Given the description of an element on the screen output the (x, y) to click on. 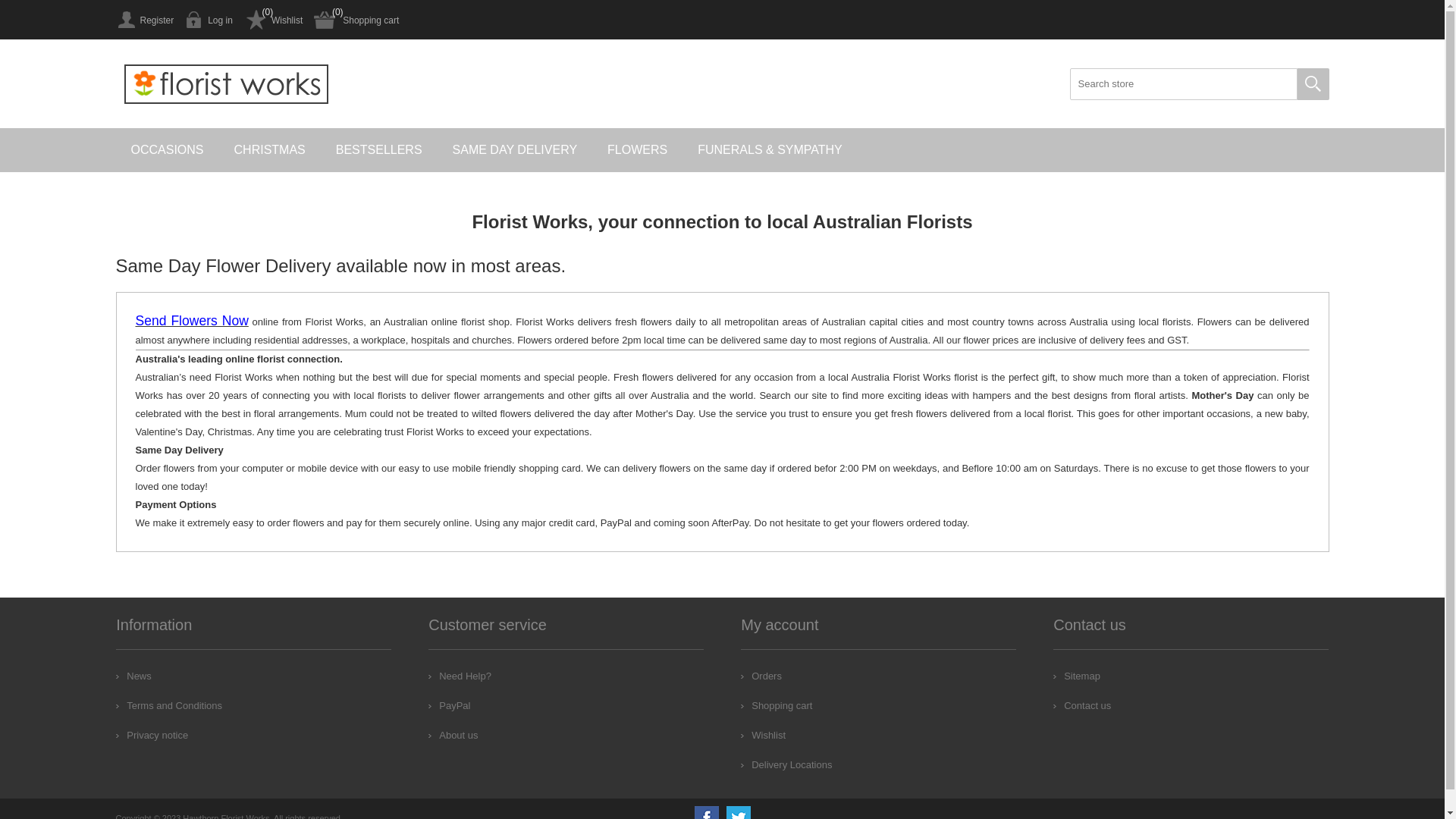
About us Element type: text (452, 734)
CHRISTMAS Element type: text (269, 150)
Log in Element type: text (208, 19)
Shopping cart Element type: text (776, 705)
BESTSELLERS Element type: text (378, 150)
PayPal Element type: text (449, 705)
SAME DAY DELIVERY Element type: text (515, 150)
Shopping cart Element type: text (355, 19)
FLOWERS Element type: text (637, 150)
Wishlist Element type: text (273, 19)
Wishlist Element type: text (762, 734)
Terms and Conditions Element type: text (169, 705)
FUNERALS & SYMPATHY Element type: text (769, 150)
News Element type: text (133, 675)
Privacy notice Element type: text (152, 734)
Orders Element type: text (760, 675)
OCCASIONS Element type: text (166, 150)
Sitemap Element type: text (1076, 675)
Search Element type: text (1312, 84)
Delivery Locations Element type: text (785, 764)
Send Flowers Now Element type: text (190, 321)
Register Element type: text (144, 19)
Contact us Element type: text (1081, 705)
Need Help? Element type: text (459, 675)
